Given the description of an element on the screen output the (x, y) to click on. 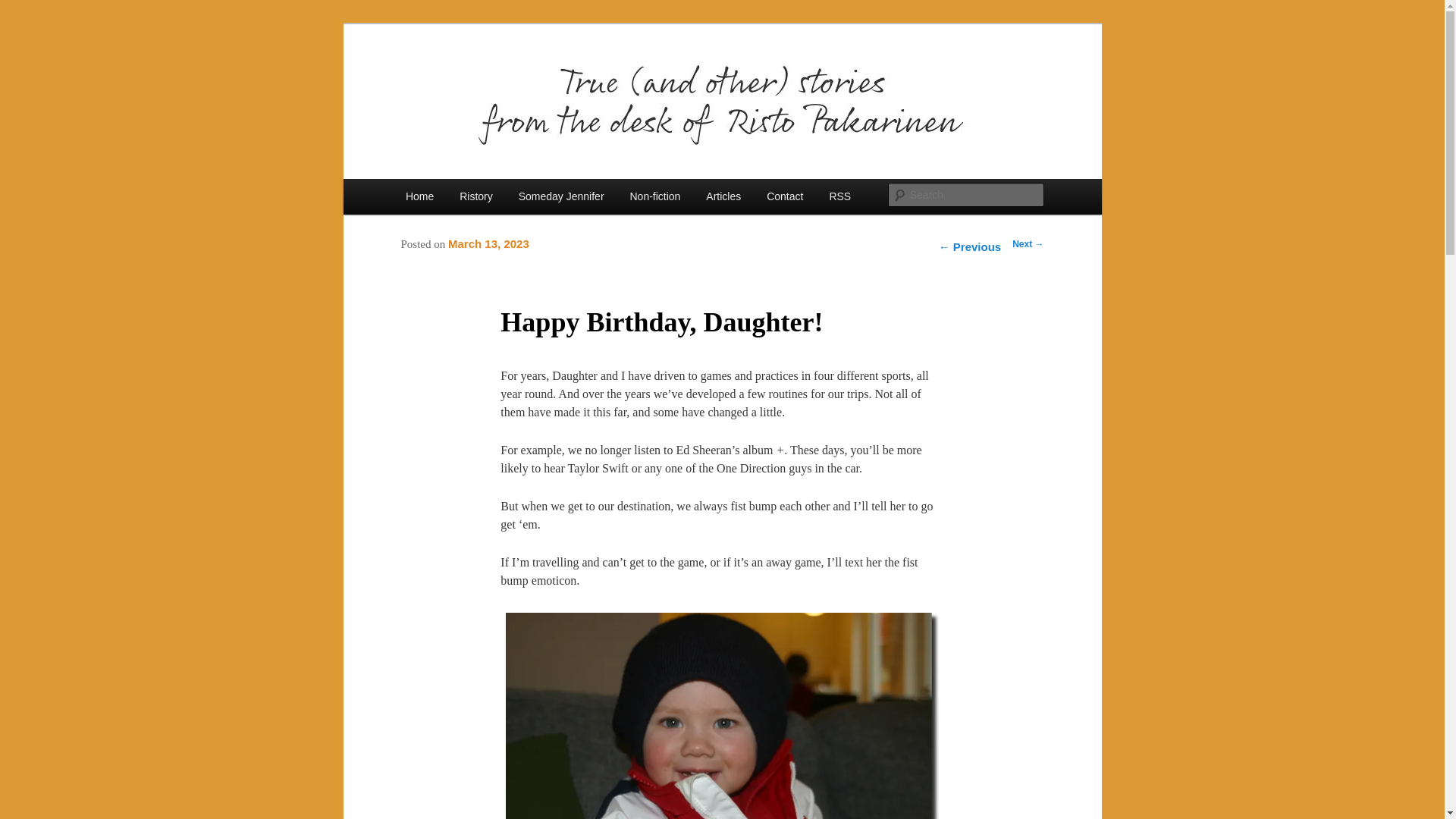
March 13, 2023 (488, 244)
Ristory (475, 196)
9:11 pm (488, 244)
From The Desk of Risto Pakarinen (585, 78)
Home (419, 196)
Search (24, 8)
Contact (784, 196)
RSS (839, 196)
Articles (723, 196)
